Given the description of an element on the screen output the (x, y) to click on. 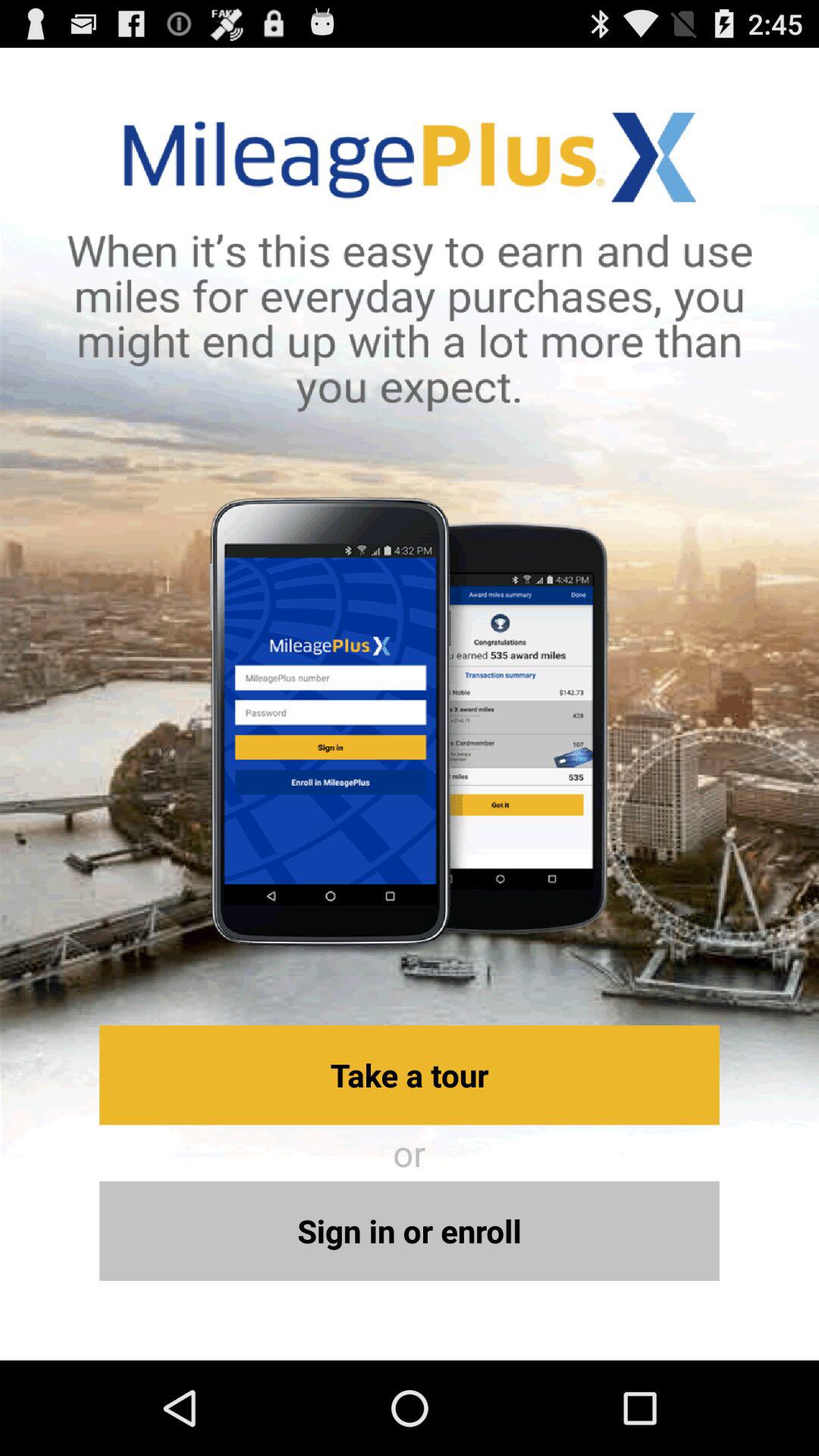
choose the item above the or icon (409, 1074)
